Given the description of an element on the screen output the (x, y) to click on. 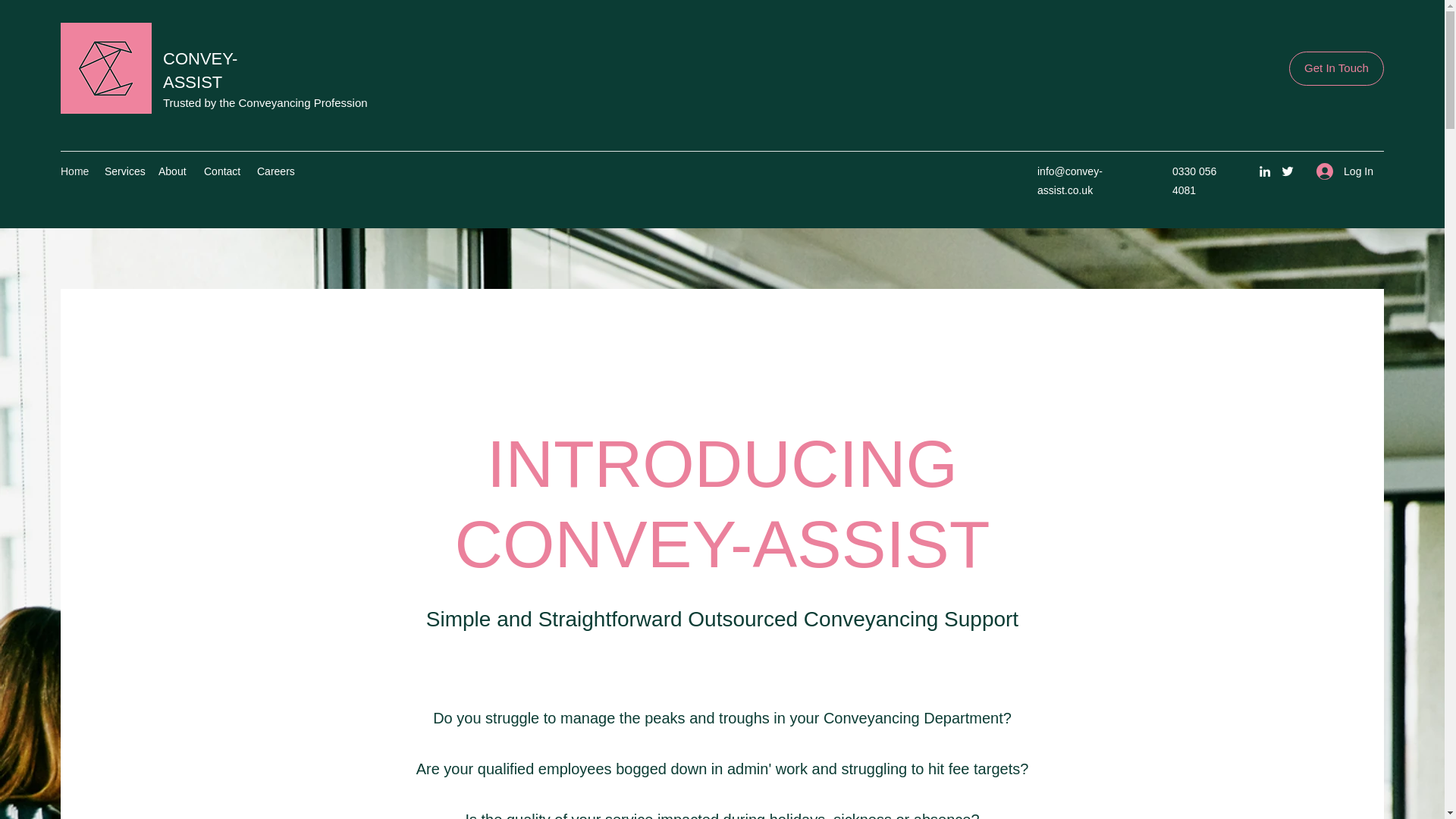
Log In (1345, 171)
About (173, 170)
Contact (222, 170)
Careers (274, 170)
Home (74, 170)
Get In Touch (1336, 68)
Services (124, 170)
